Given the description of an element on the screen output the (x, y) to click on. 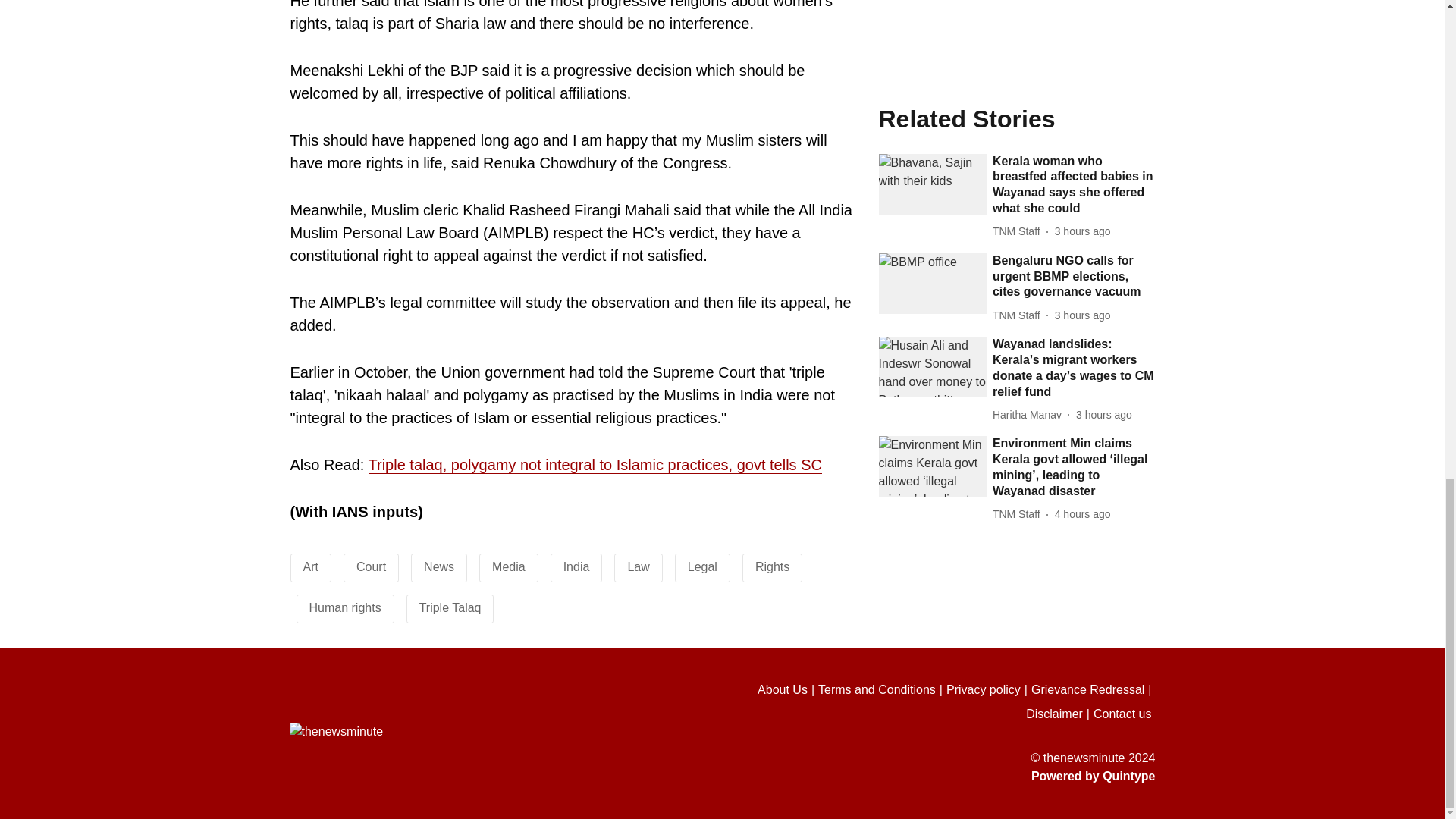
News (438, 566)
Media (508, 566)
Law (638, 566)
Art (310, 566)
India (576, 566)
Legal (702, 566)
Court (370, 566)
Triple Talaq (450, 607)
Human rights (344, 607)
